Given the description of an element on the screen output the (x, y) to click on. 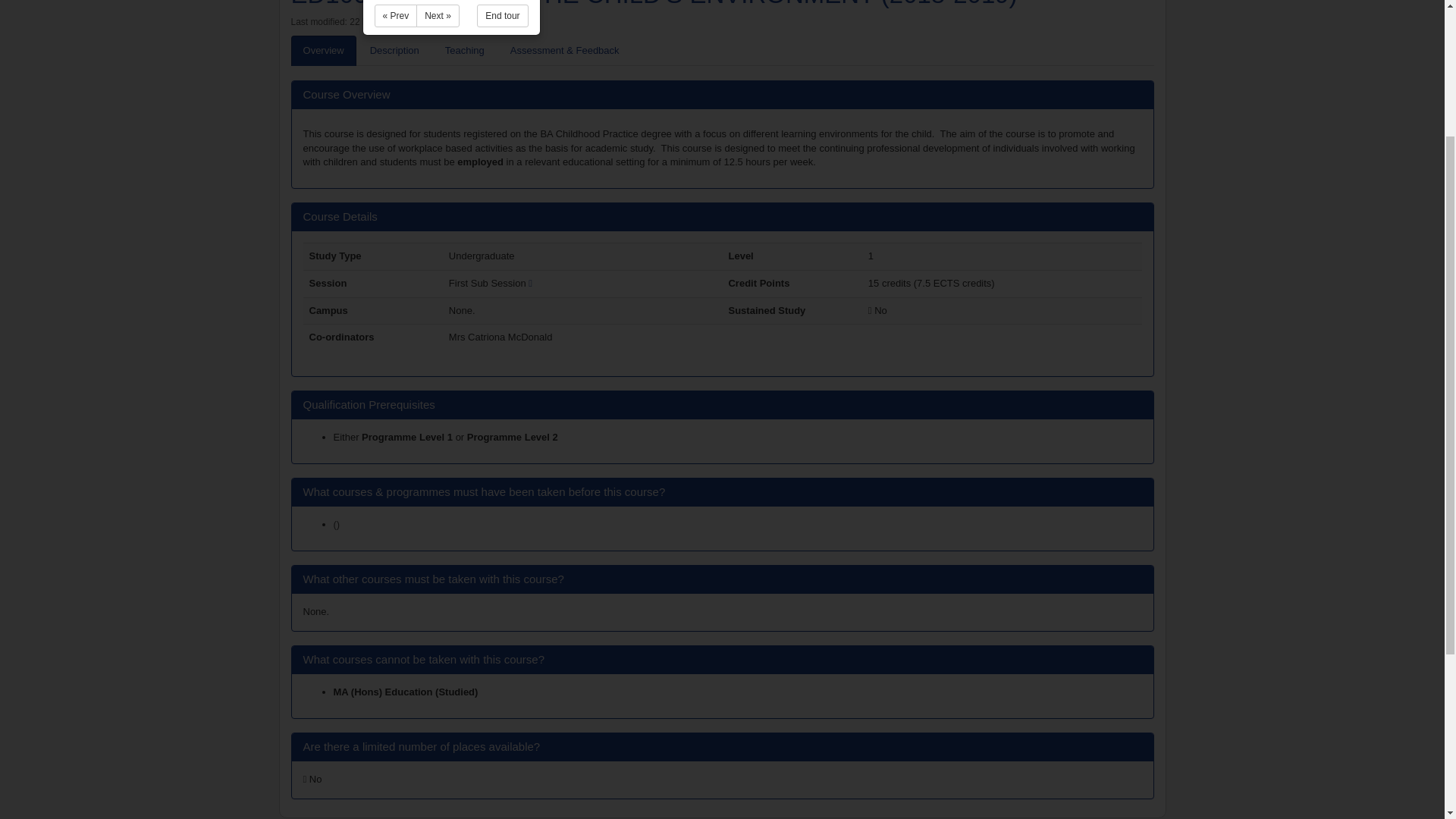
Teaching (464, 51)
End tour (502, 15)
Description (394, 51)
Overview (323, 51)
